Given the description of an element on the screen output the (x, y) to click on. 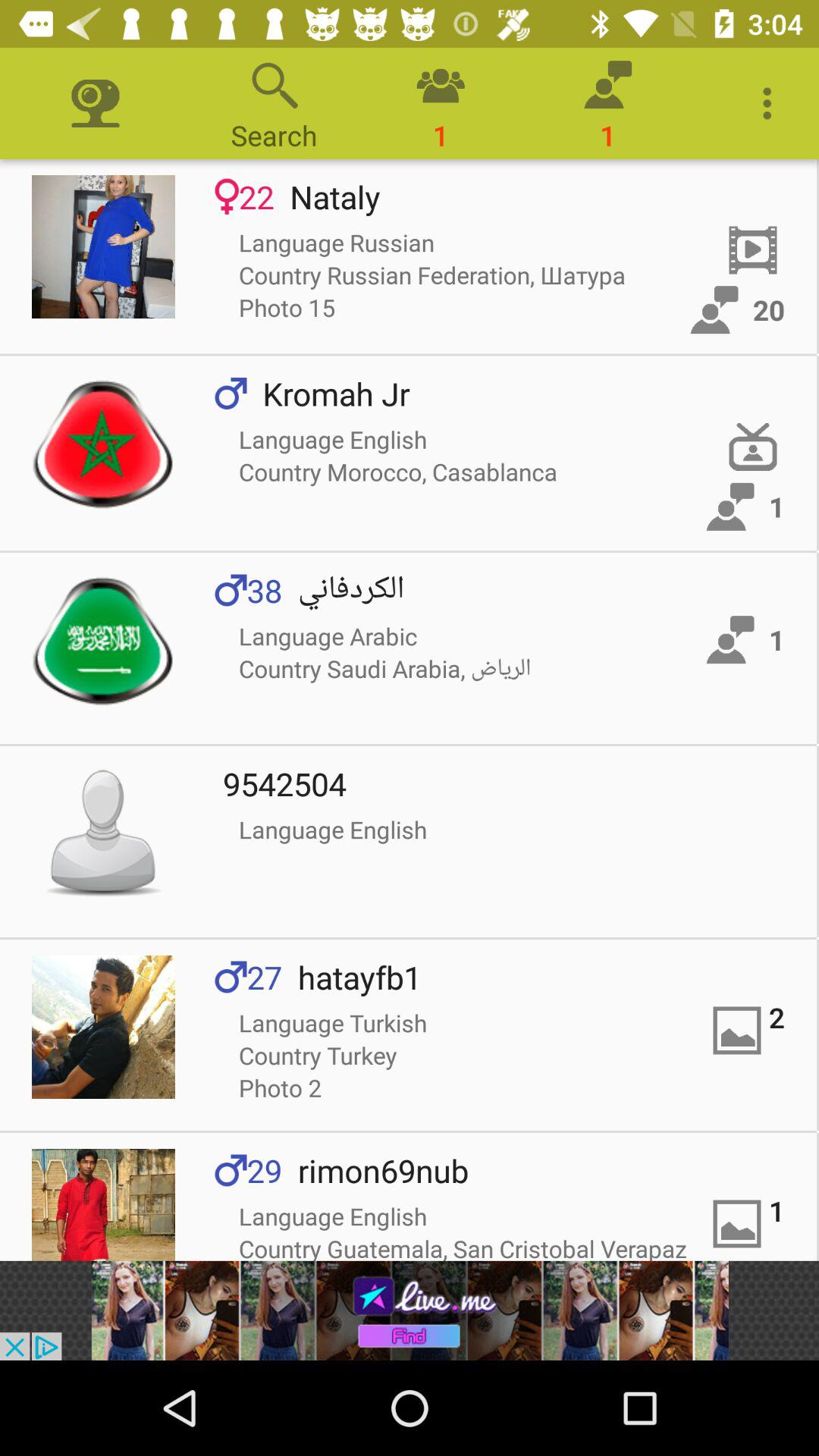
go to profile (103, 1026)
